Given the description of an element on the screen output the (x, y) to click on. 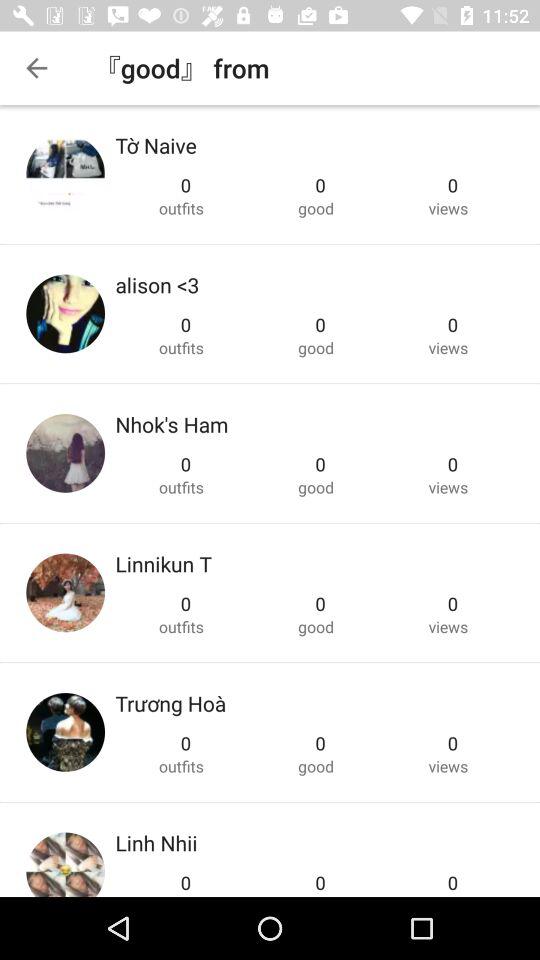
choose the nhok's ham (171, 424)
